Given the description of an element on the screen output the (x, y) to click on. 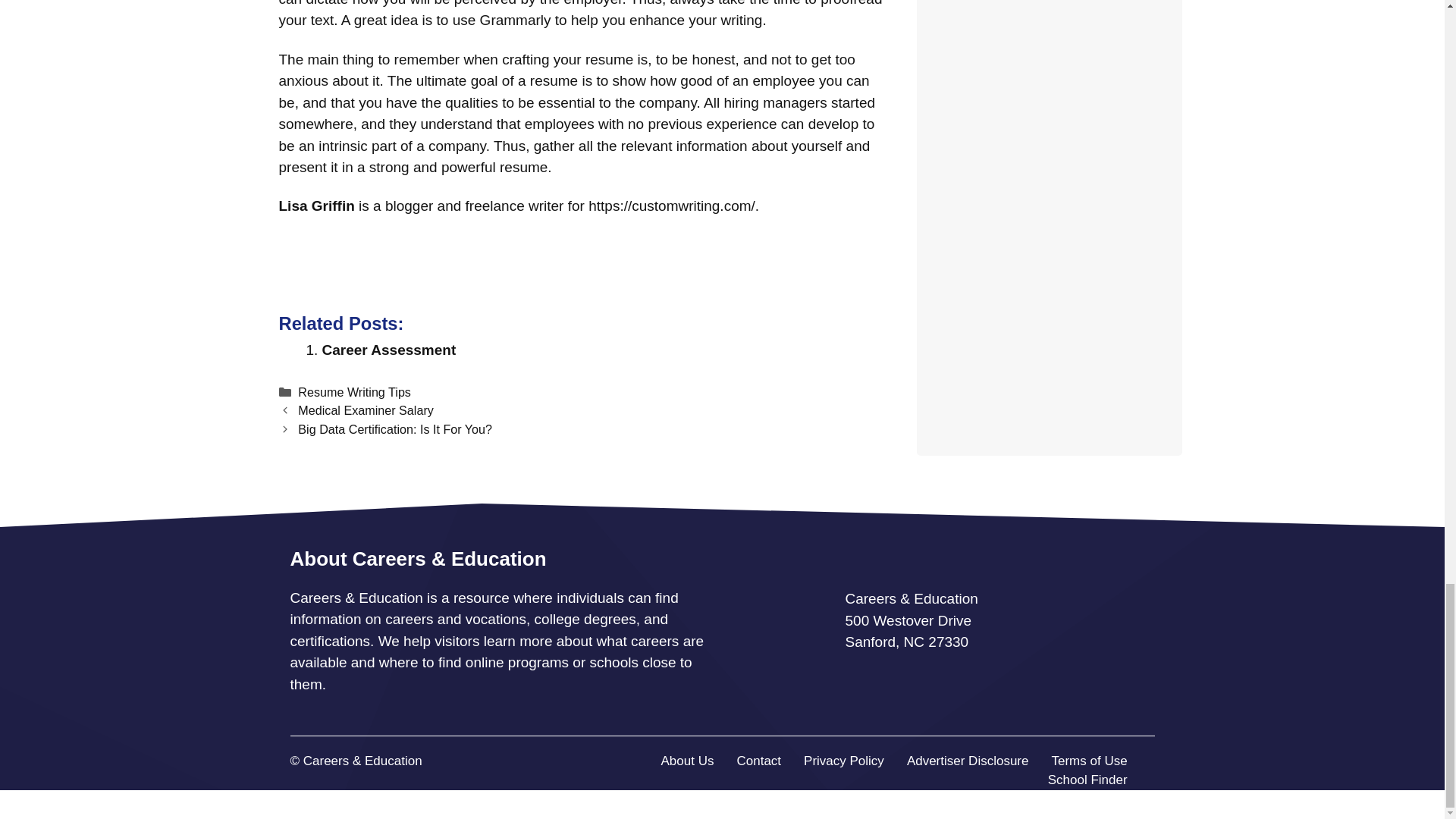
Career Assessment (388, 349)
enhance your writing (694, 19)
Big Data Certification: Is It For You? (395, 428)
Resume Writing Tips (354, 391)
Next (395, 428)
Previous (365, 409)
Medical Examiner Salary (365, 409)
Career Assessment (388, 349)
